Given the description of an element on the screen output the (x, y) to click on. 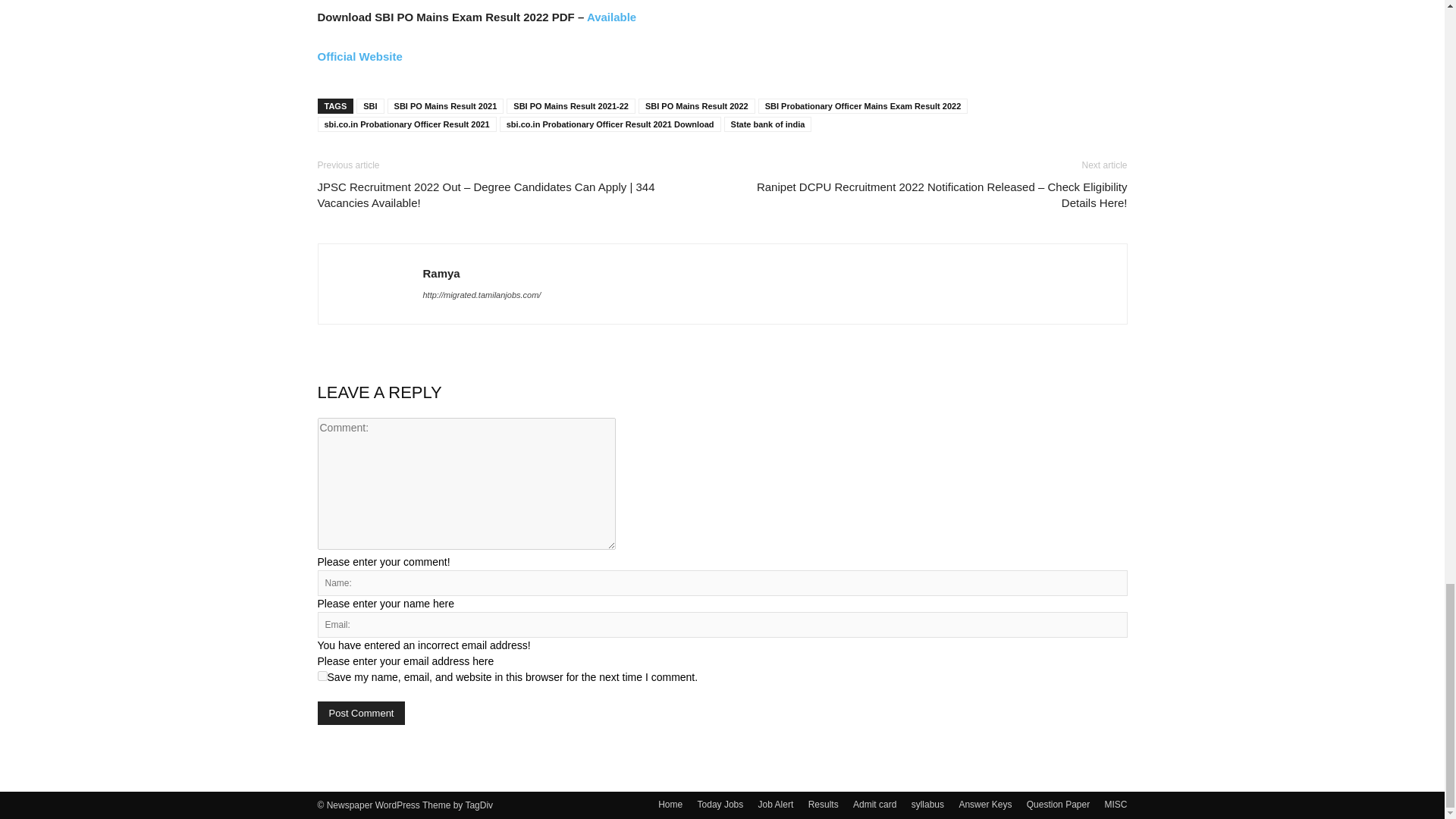
Post Comment (360, 712)
yes (321, 675)
